Given the description of an element on the screen output the (x, y) to click on. 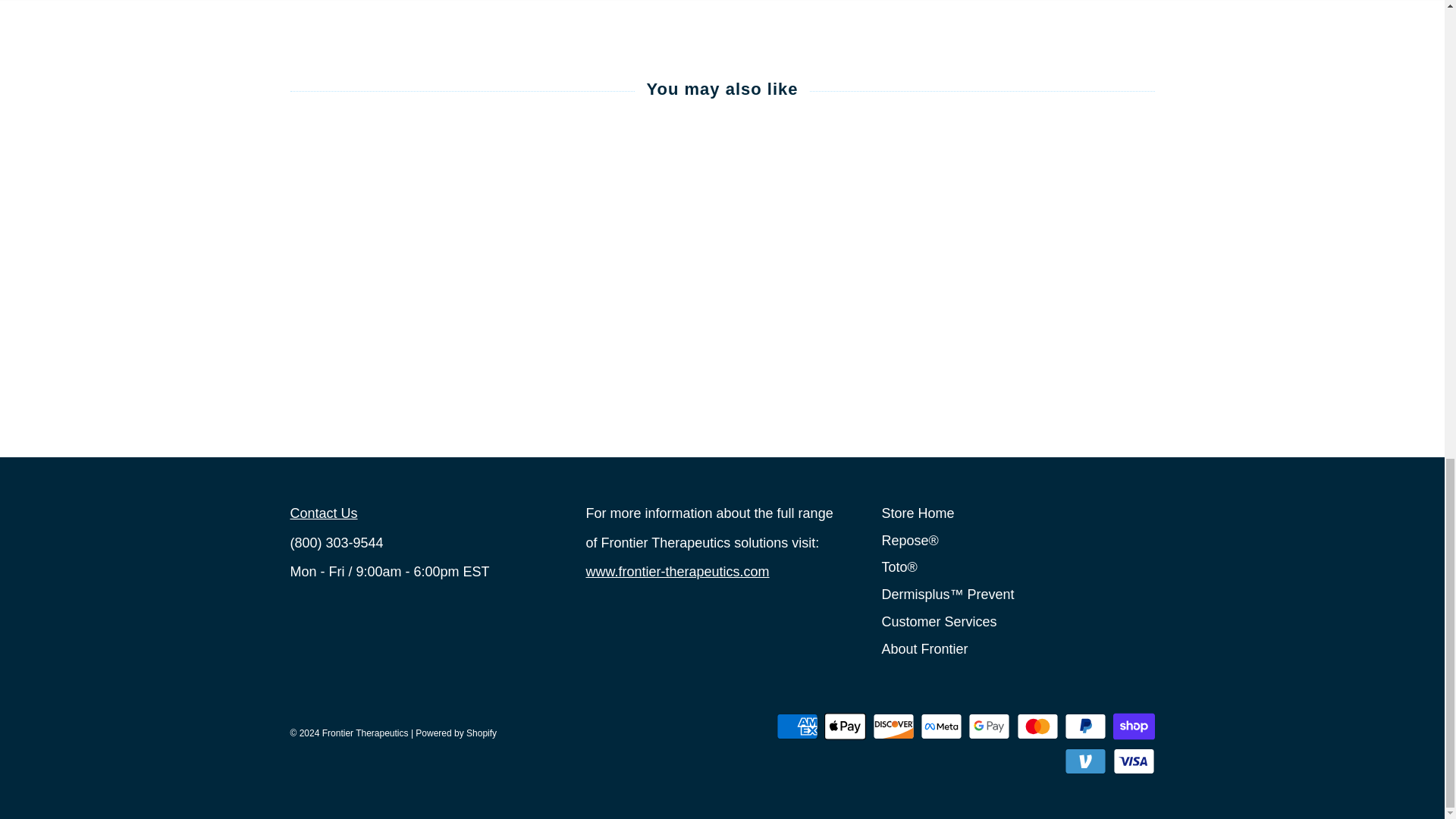
Apple Pay (845, 726)
Mastercard (1037, 726)
American Express (797, 726)
Discover (893, 726)
Meta Pay (941, 726)
Visa (1133, 761)
Shop Pay (1133, 726)
Venmo (1085, 761)
PayPal (1085, 726)
Google Pay (989, 726)
